Given the description of an element on the screen output the (x, y) to click on. 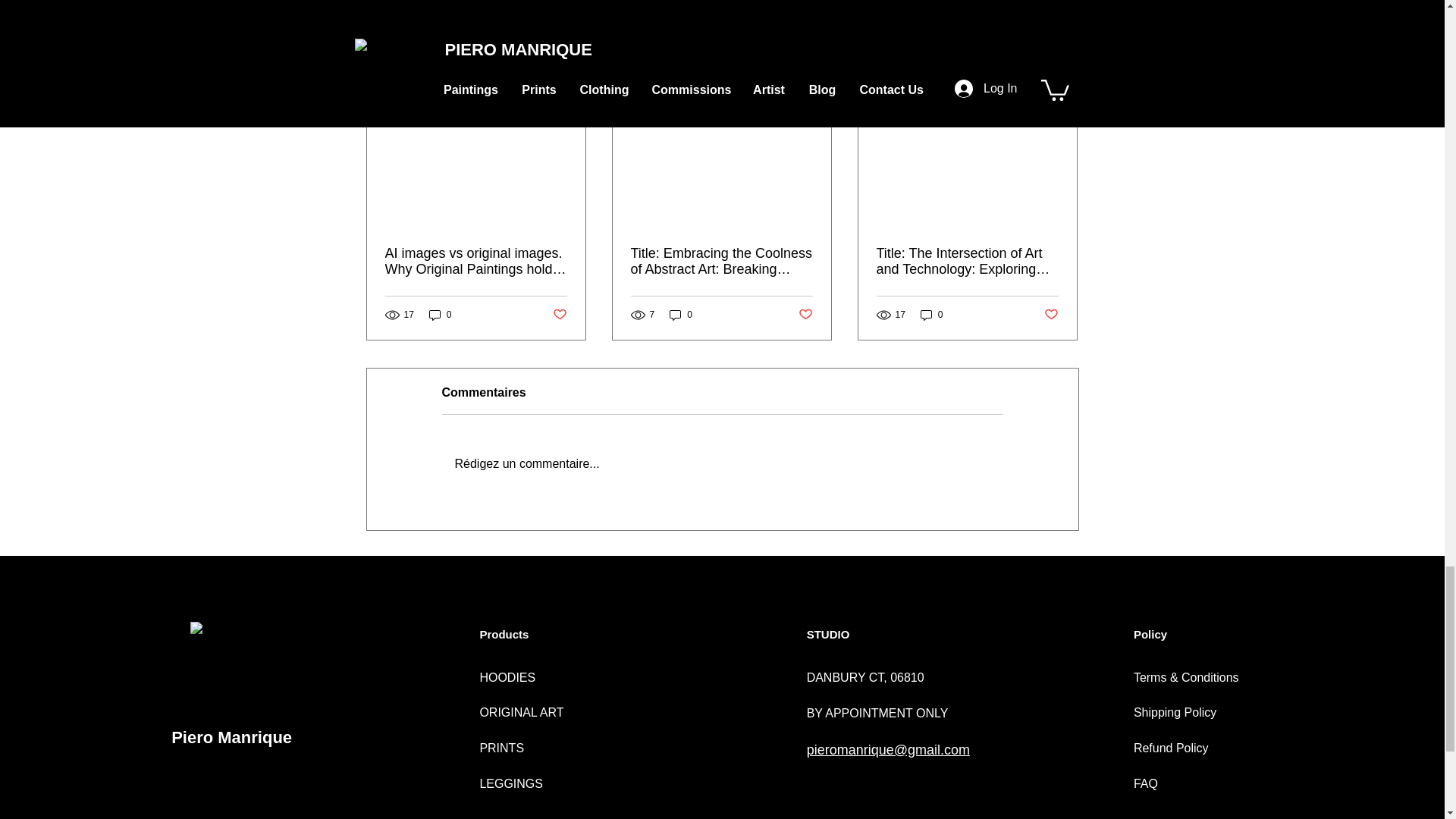
Post not marked as liked (1050, 314)
0 (440, 314)
Post not marked as liked (558, 314)
See All (1061, 77)
Post not marked as liked (804, 314)
Post not marked as liked (995, 1)
0 (681, 314)
0 (931, 314)
